Given the description of an element on the screen output the (x, y) to click on. 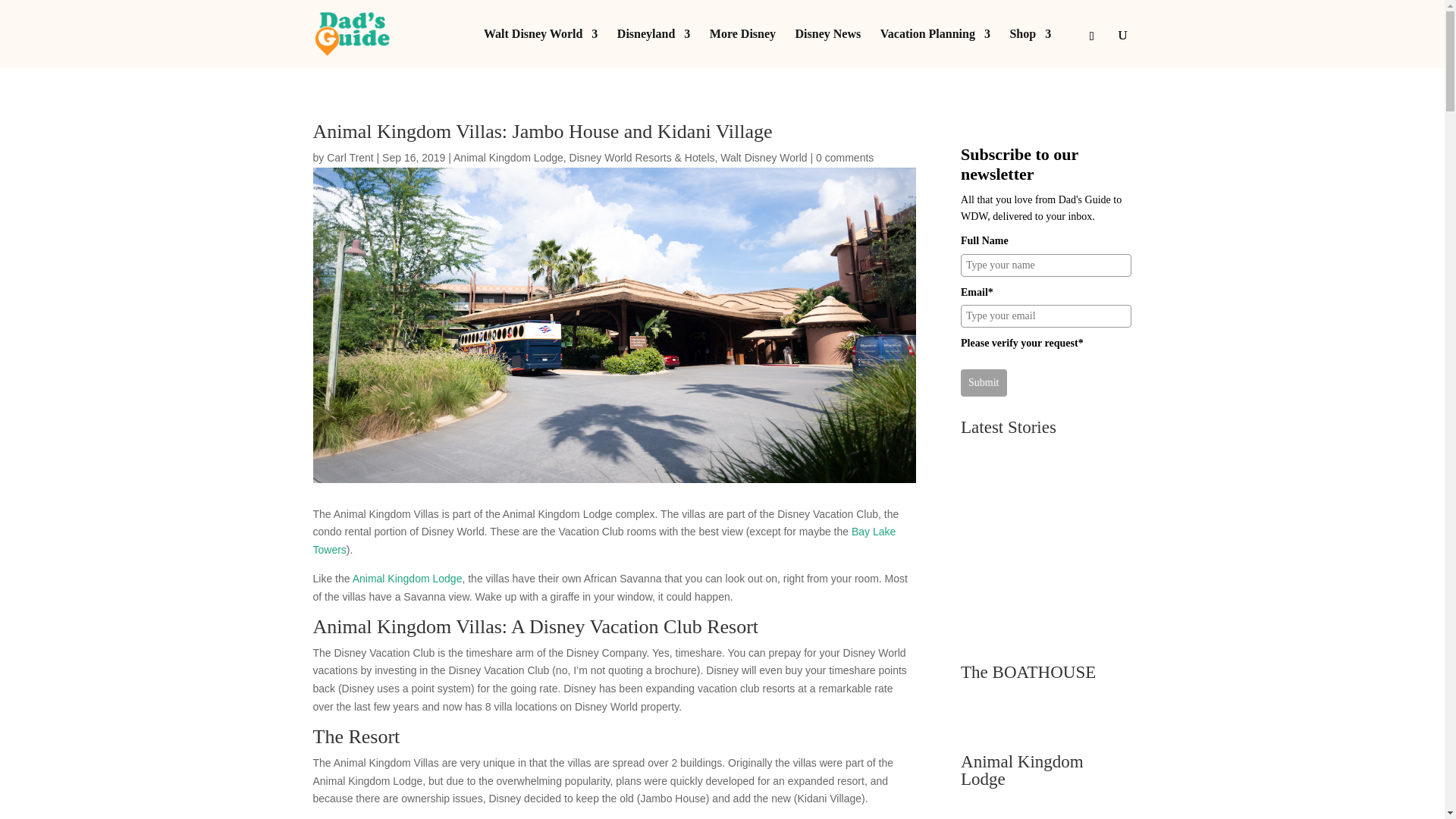
Disney News (827, 47)
Walt Disney World (539, 47)
Animal Kingdom Lodge (507, 157)
Bay Lake Towers (604, 540)
Walt Disney World (763, 157)
Animal Kingdom Lodge (407, 578)
Posts by Carl Trent (349, 157)
0 comments (844, 157)
More Disney (743, 47)
Carl Trent (349, 157)
